Given the description of an element on the screen output the (x, y) to click on. 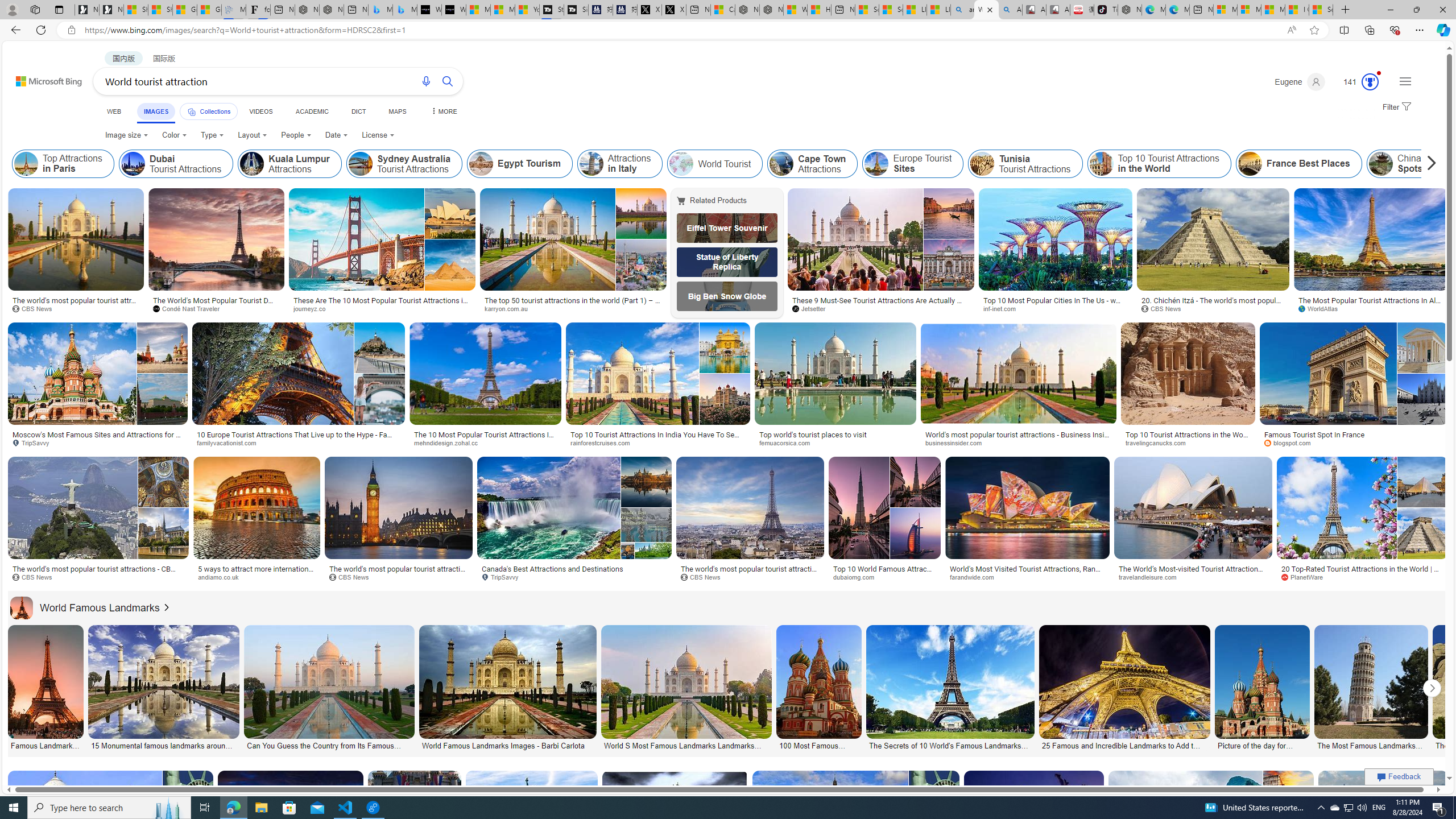
MORE (443, 111)
World Famous Landmarks (21, 607)
Statue of Liberty Replica (727, 261)
Type (212, 135)
